Given the description of an element on the screen output the (x, y) to click on. 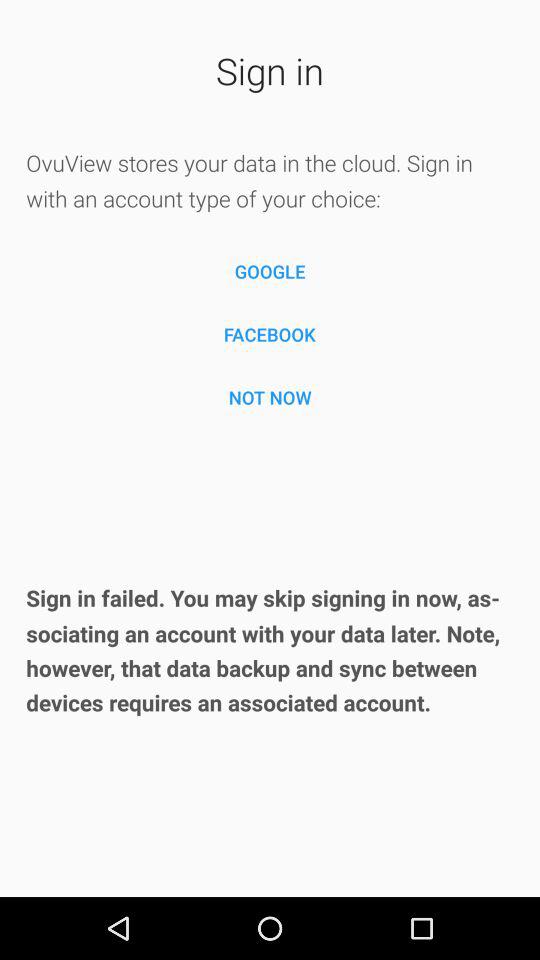
select the item below the google icon (269, 334)
